Given the description of an element on the screen output the (x, y) to click on. 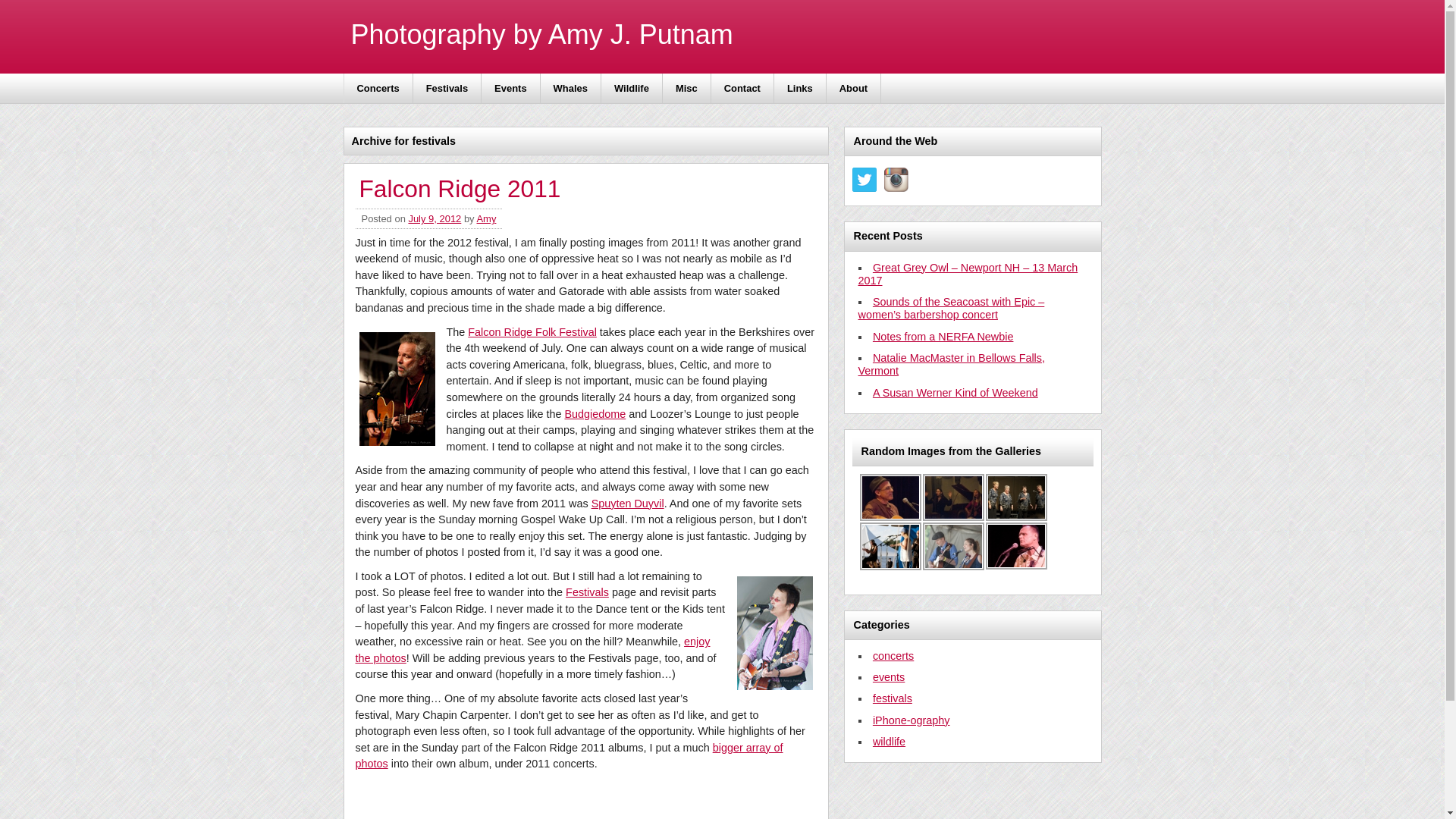
Posts by Amy (486, 218)
Follow Us on Twitter (863, 179)
Whales (570, 88)
About (853, 88)
Photography by Amy J. Putnam (541, 34)
Festivals (587, 592)
Concerts (378, 88)
Events (510, 88)
Budgiedome (595, 413)
Falcon Ridge Folk Festival (531, 331)
2012 Falcon Ridge Folk Festival (952, 545)
Misc (686, 88)
